Given the description of an element on the screen output the (x, y) to click on. 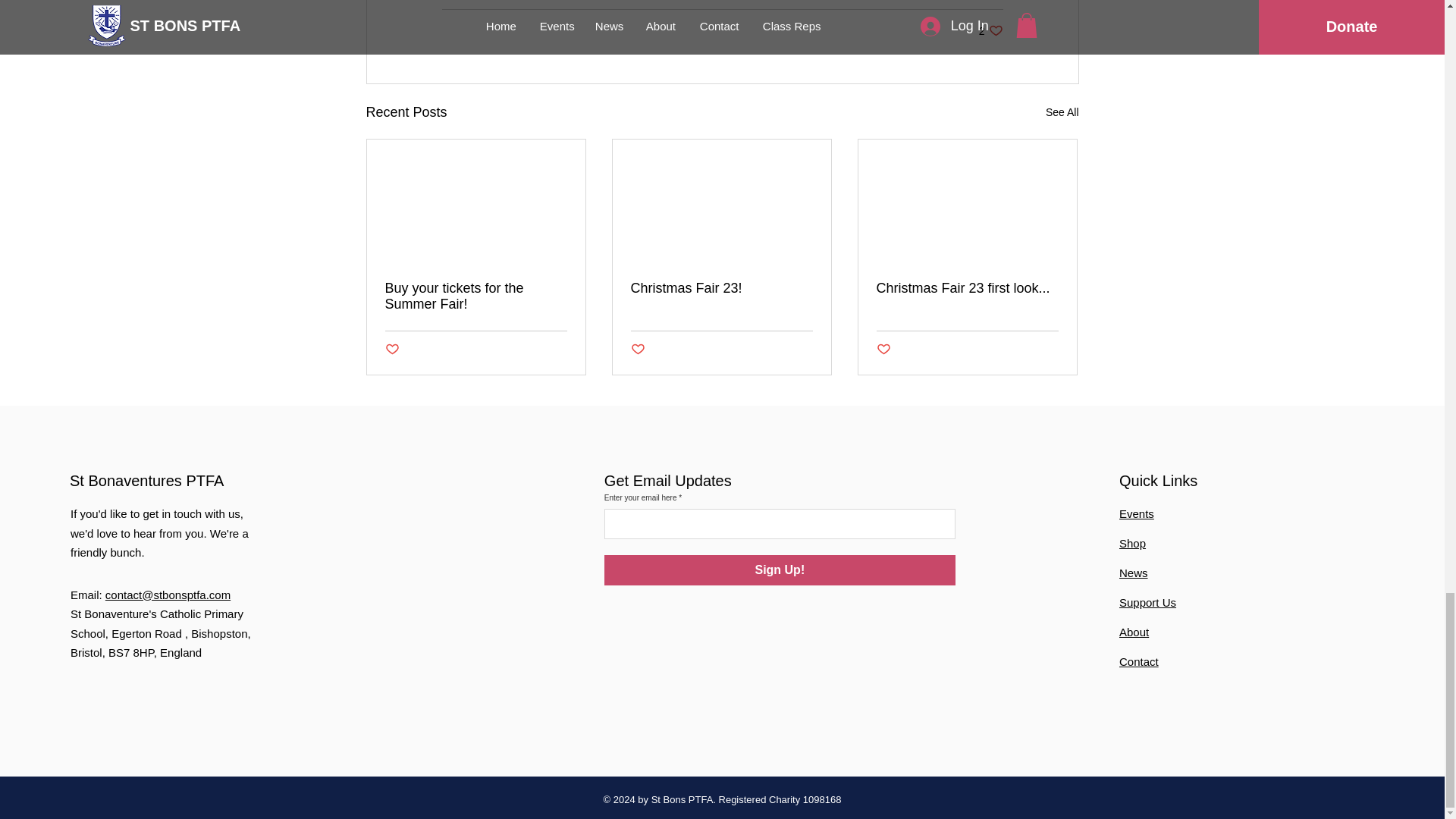
Buy your tickets for the Summer Fair! (476, 296)
Events (1136, 513)
News (1133, 572)
Post not marked as liked (391, 349)
Post not marked as liked (637, 349)
Christmas Fair 23! (990, 30)
Shop (721, 288)
Sign Up! (1132, 543)
Post not marked as liked (779, 570)
See All (883, 349)
Support Us (1061, 112)
Christmas Fair 23 first look... (1147, 602)
